Given the description of an element on the screen output the (x, y) to click on. 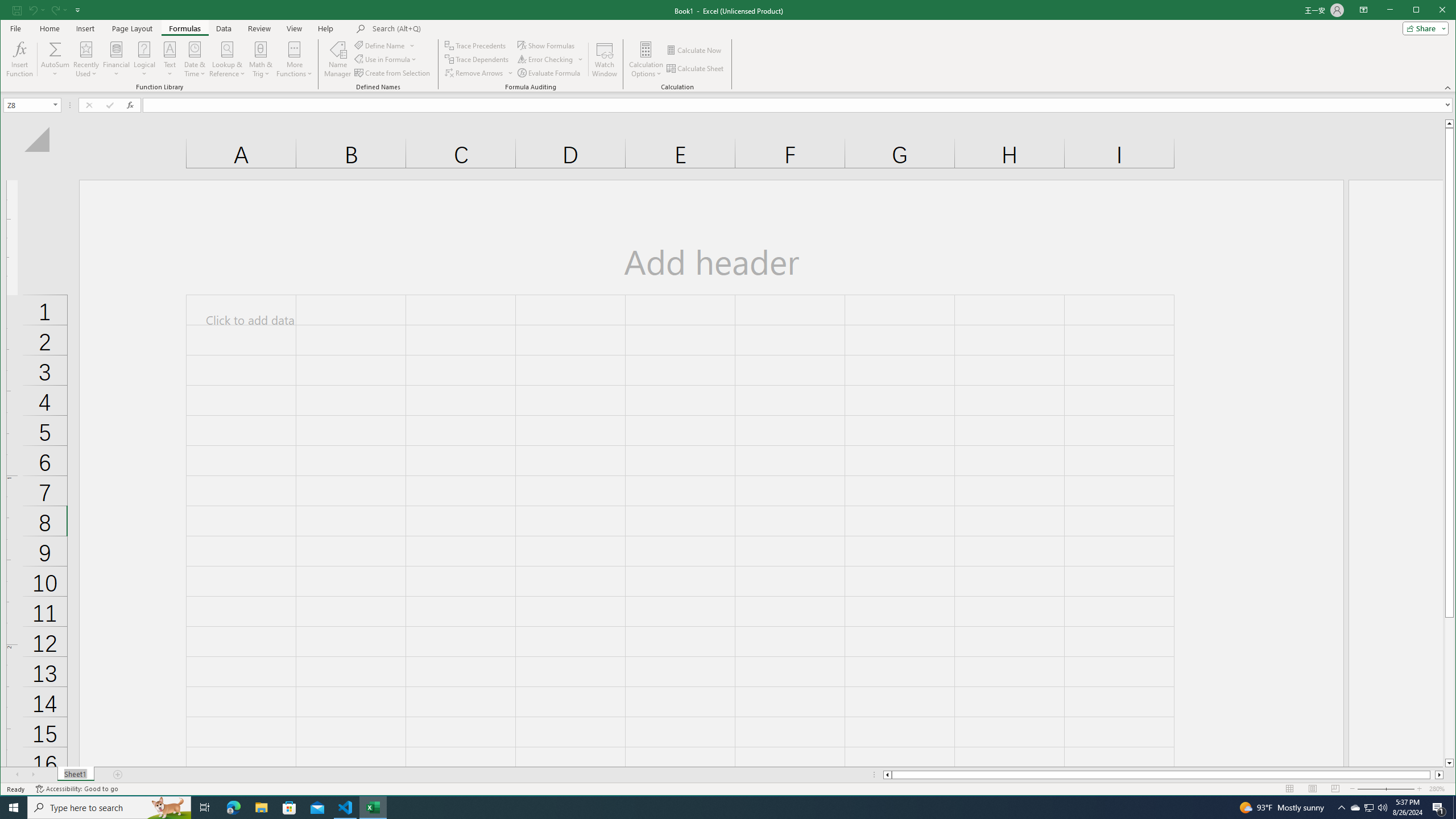
Search highlights icon opens search home window (167, 807)
Error Checking... (550, 59)
Q2790: 100% (1382, 807)
Define Name (384, 45)
Running applications (717, 807)
